Given the description of an element on the screen output the (x, y) to click on. 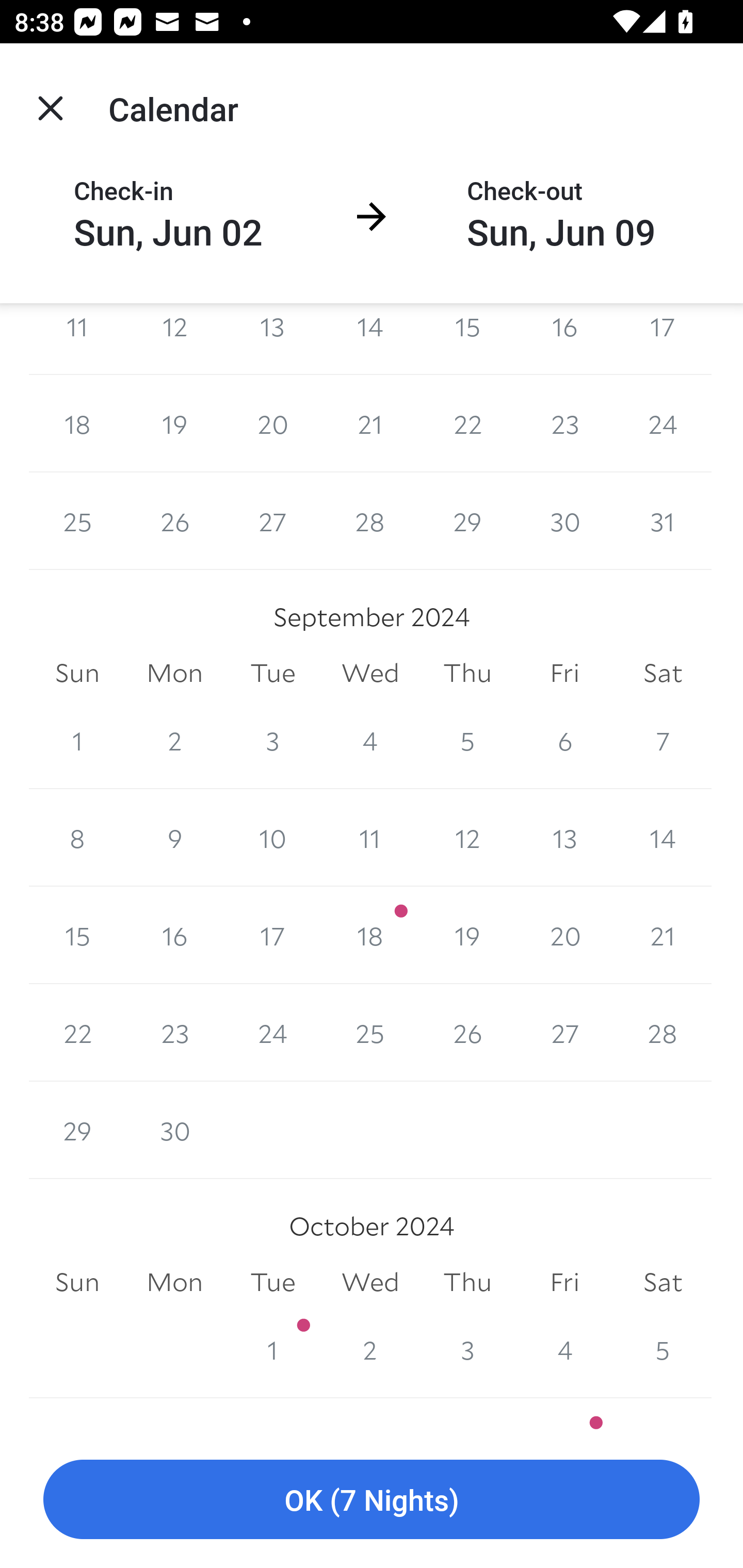
11 11 August 2024 (77, 338)
12 12 August 2024 (174, 338)
13 13 August 2024 (272, 338)
14 14 August 2024 (370, 338)
15 15 August 2024 (467, 338)
16 16 August 2024 (564, 338)
17 17 August 2024 (662, 338)
18 18 August 2024 (77, 422)
19 19 August 2024 (174, 422)
20 20 August 2024 (272, 422)
21 21 August 2024 (370, 422)
22 22 August 2024 (467, 422)
23 23 August 2024 (564, 422)
24 24 August 2024 (662, 422)
25 25 August 2024 (77, 520)
26 26 August 2024 (174, 520)
27 27 August 2024 (272, 520)
28 28 August 2024 (370, 520)
29 29 August 2024 (467, 520)
30 30 August 2024 (564, 520)
31 31 August 2024 (662, 520)
Sun (77, 672)
Mon (174, 672)
Tue (272, 672)
Wed (370, 672)
Thu (467, 672)
Fri (564, 672)
Sat (662, 672)
1 1 September 2024 (77, 739)
2 2 September 2024 (174, 739)
3 3 September 2024 (272, 739)
4 4 September 2024 (370, 739)
5 5 September 2024 (467, 739)
6 6 September 2024 (564, 739)
7 7 September 2024 (662, 739)
8 8 September 2024 (77, 836)
9 9 September 2024 (174, 836)
10 10 September 2024 (272, 836)
11 11 September 2024 (370, 836)
12 12 September 2024 (467, 836)
13 13 September 2024 (564, 836)
14 14 September 2024 (662, 836)
15 15 September 2024 (77, 934)
16 16 September 2024 (174, 934)
17 17 September 2024 (272, 934)
18 18 September 2024 (370, 934)
19 19 September 2024 (467, 934)
20 20 September 2024 (564, 934)
21 21 September 2024 (662, 934)
22 22 September 2024 (77, 1032)
23 23 September 2024 (174, 1032)
24 24 September 2024 (272, 1032)
25 25 September 2024 (370, 1032)
26 26 September 2024 (467, 1032)
27 27 September 2024 (564, 1032)
28 28 September 2024 (662, 1032)
29 29 September 2024 (77, 1130)
30 30 September 2024 (174, 1130)
Sun (77, 1282)
Mon (174, 1282)
Tue (272, 1282)
Wed (370, 1282)
Thu (467, 1282)
Fri (564, 1282)
Sat (662, 1282)
1 1 October 2024 (272, 1349)
2 2 October 2024 (370, 1349)
3 3 October 2024 (467, 1349)
4 4 October 2024 (564, 1349)
5 5 October 2024 (662, 1349)
OK (7 Nights) (371, 1499)
